Given the description of an element on the screen output the (x, y) to click on. 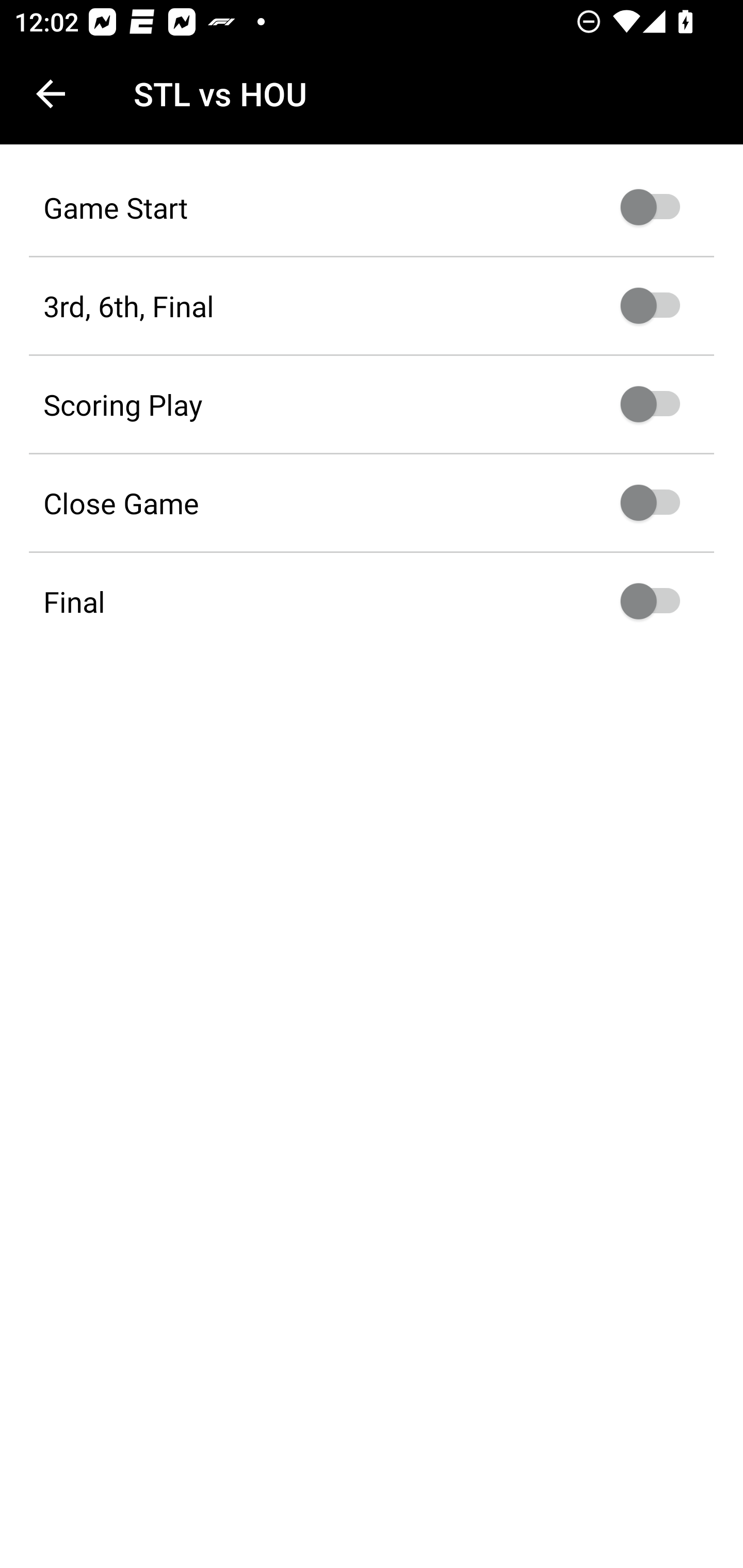
Navigate up (50, 93)
